Given the description of an element on the screen output the (x, y) to click on. 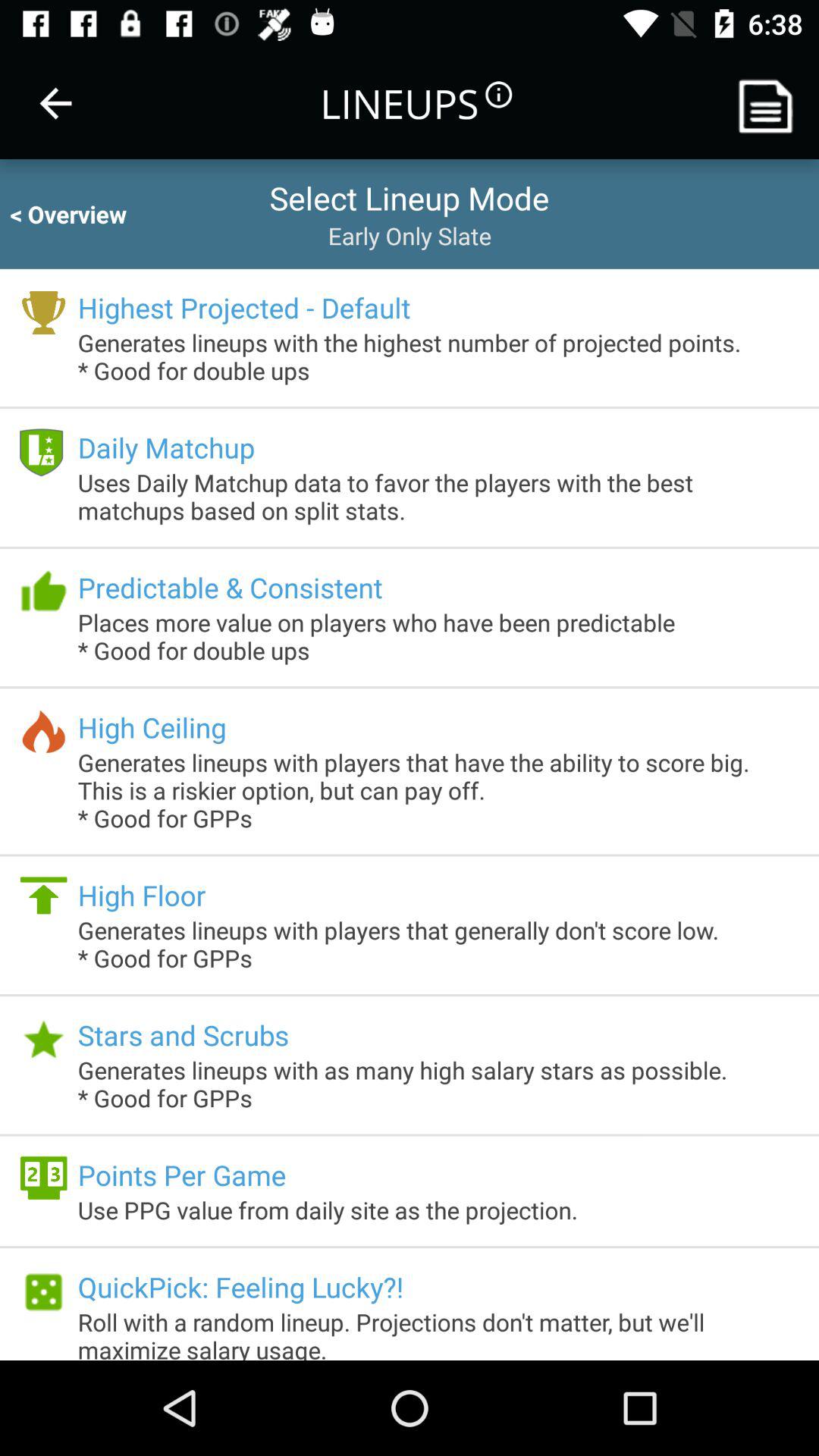
press the item next to the lineups item (55, 103)
